Given the description of an element on the screen output the (x, y) to click on. 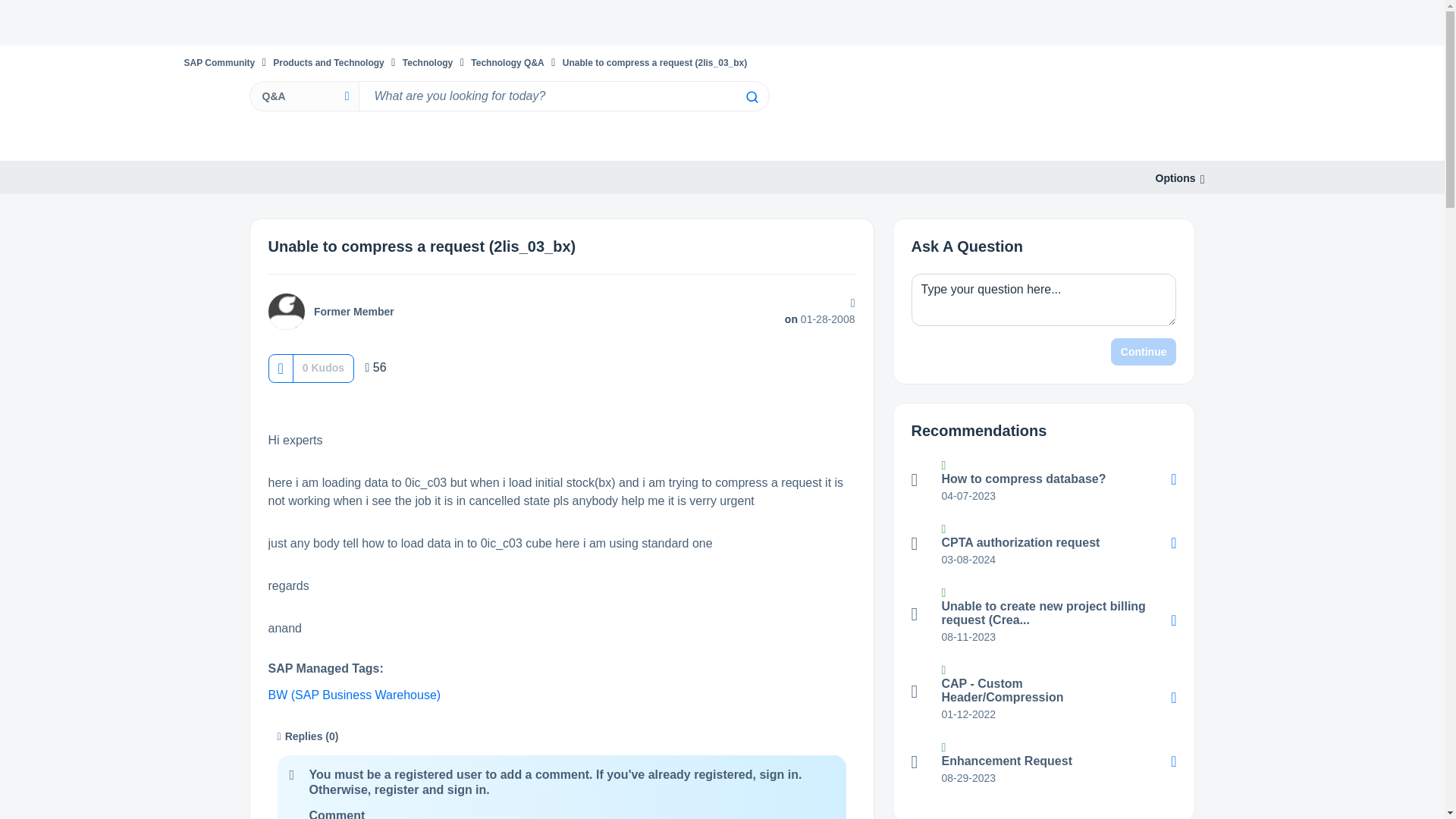
Search (563, 96)
Comment (336, 814)
Continue (1143, 351)
SAP Community (218, 62)
Products and Technology (328, 62)
Show option menu (1176, 178)
Click here to give kudos to this post. (279, 367)
Search (750, 96)
Search (750, 96)
Options (1176, 178)
Search (750, 96)
The total number of kudos this post has received. (323, 367)
Technology (427, 62)
Search Granularity (303, 96)
